Given the description of an element on the screen output the (x, y) to click on. 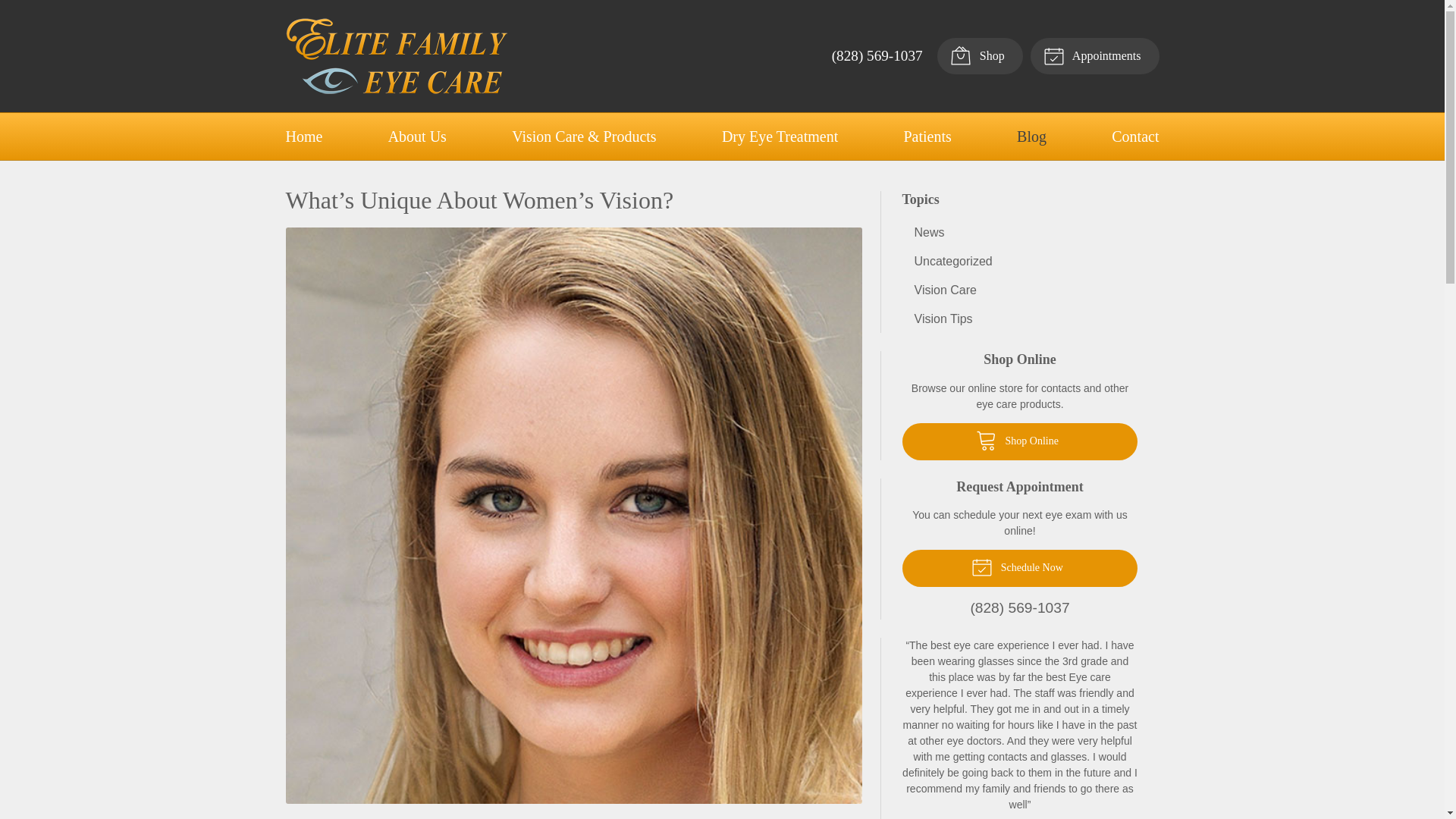
Schedule Now (1020, 568)
News (1020, 232)
Appointments (1094, 55)
About Us (417, 136)
Shop Online (980, 55)
Dry Eye Treatment (780, 136)
Schedule Now (1020, 568)
Call practice (1020, 608)
Request Appointment (1094, 55)
Shop (980, 55)
Shop Online (1020, 441)
Contact (1135, 136)
Vision Tips (1020, 318)
Vision Care (1020, 289)
Shop Online (1020, 441)
